Given the description of an element on the screen output the (x, y) to click on. 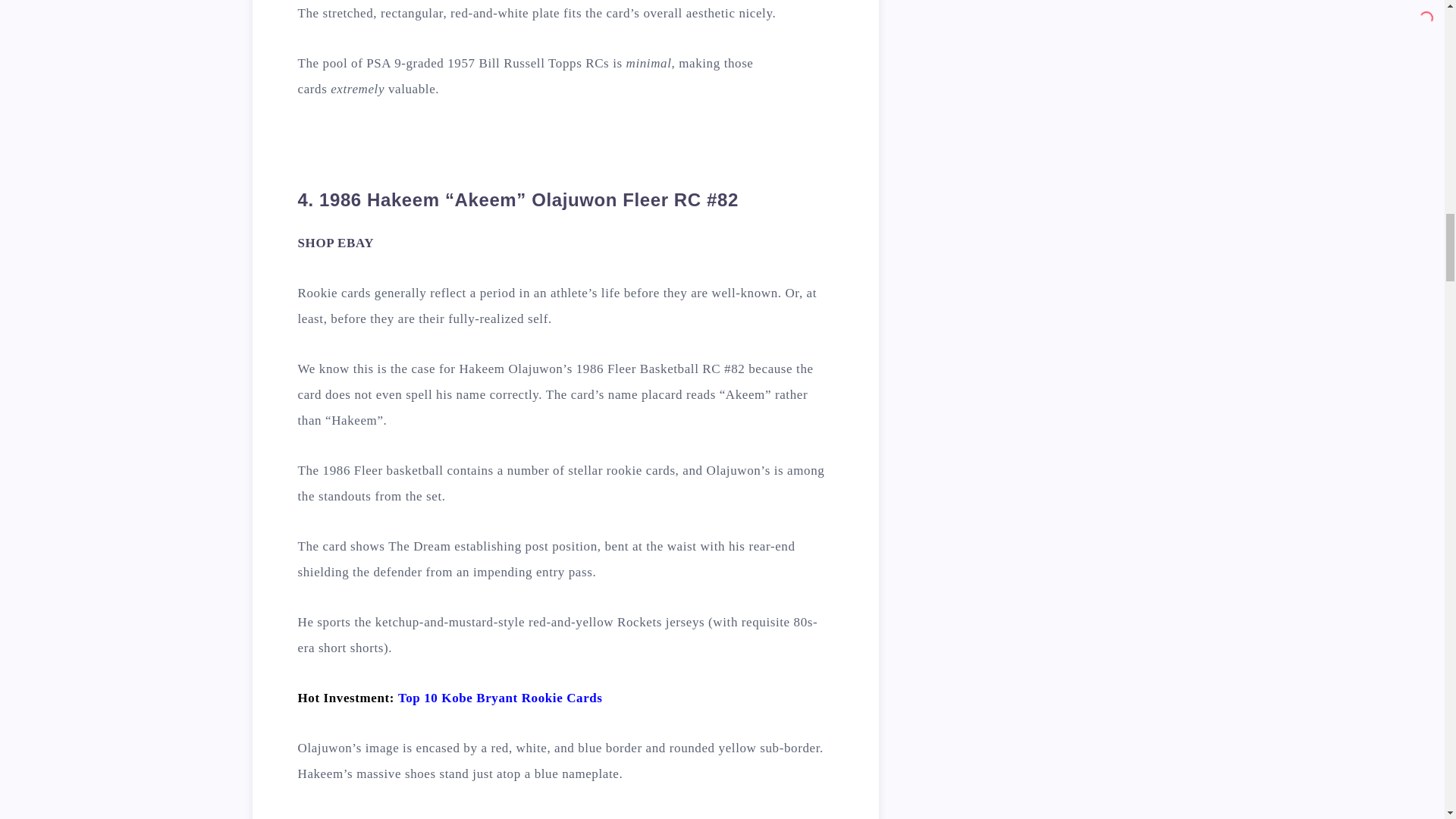
SHOP EBAY (335, 242)
Top 10 Kobe Bryant Rookie Cards (499, 698)
